Given the description of an element on the screen output the (x, y) to click on. 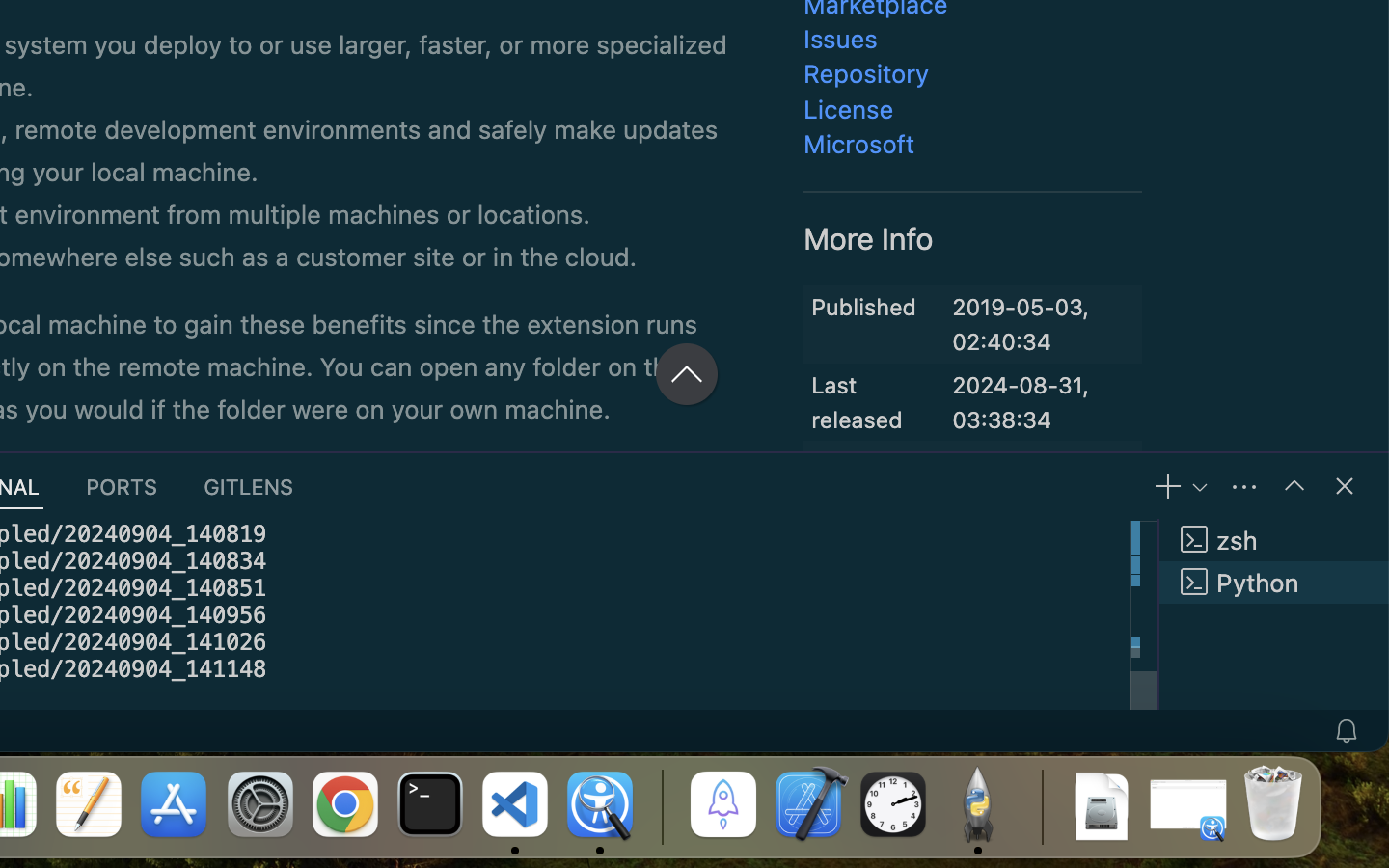
Published Element type: AXStaticText (864, 306)
Issues Element type: AXStaticText (840, 38)
 Element type: AXCheckBox (1294, 485)
More Info Element type: AXStaticText (868, 237)
0 GITLENS Element type: AXRadioButton (249, 485)
